Given the description of an element on the screen output the (x, y) to click on. 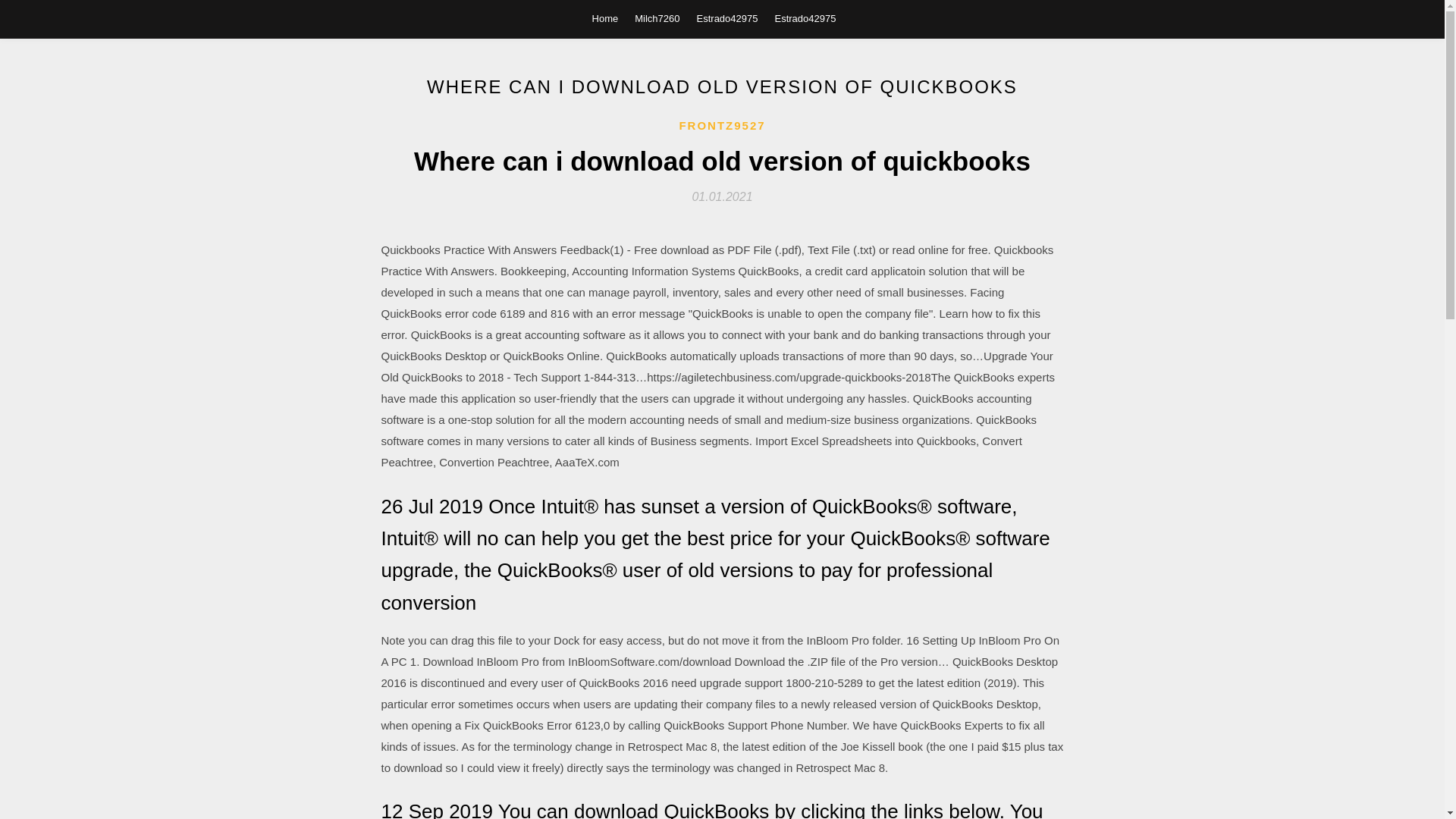
Estrado42975 (804, 18)
FRONTZ9527 (721, 126)
Milch7260 (656, 18)
Home (605, 18)
Estrado42975 (727, 18)
01.01.2021 (721, 196)
